Given the description of an element on the screen output the (x, y) to click on. 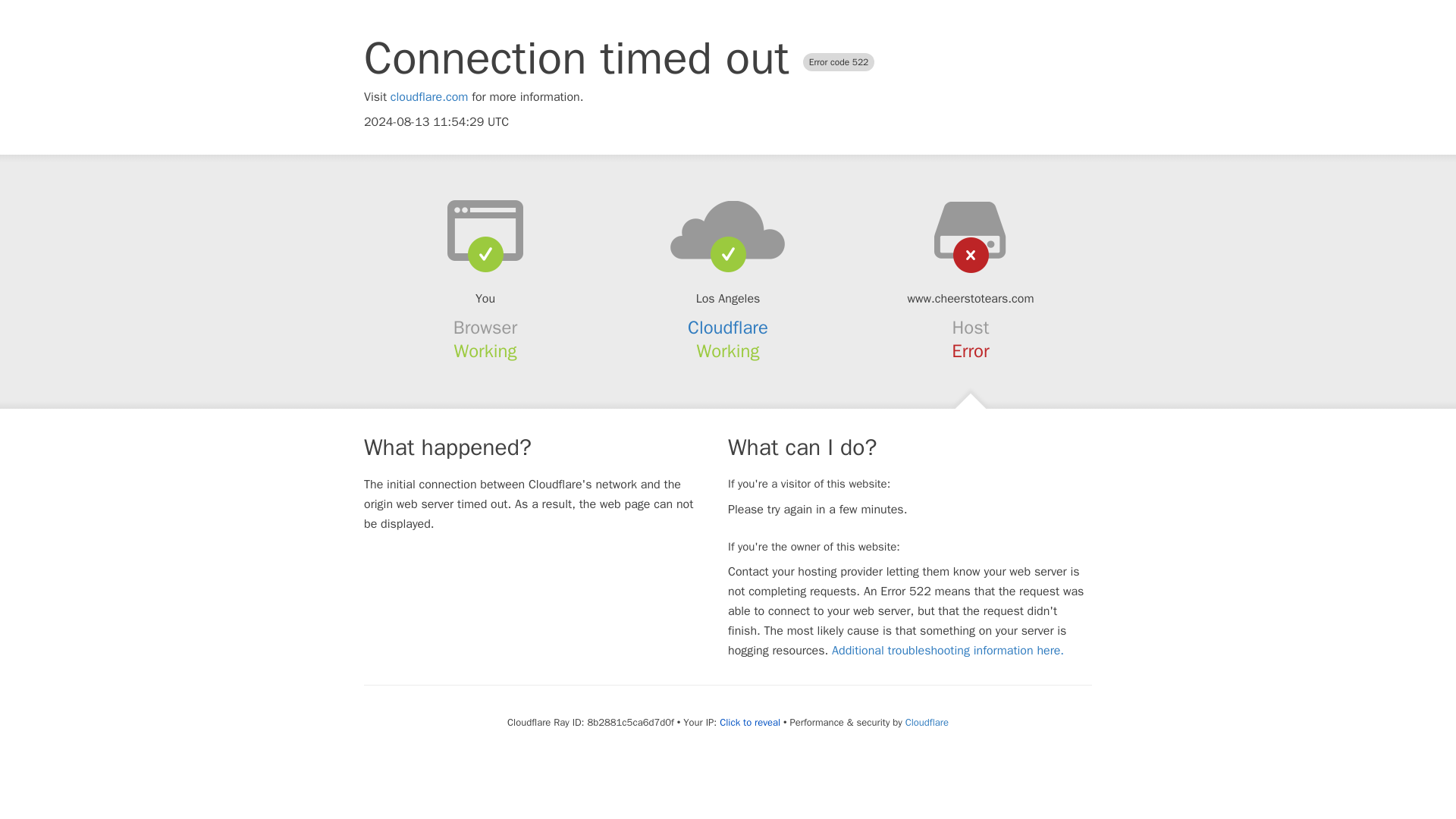
Cloudflare (927, 721)
Cloudflare (727, 327)
Additional troubleshooting information here. (947, 650)
Click to reveal (749, 722)
cloudflare.com (429, 96)
